Given the description of an element on the screen output the (x, y) to click on. 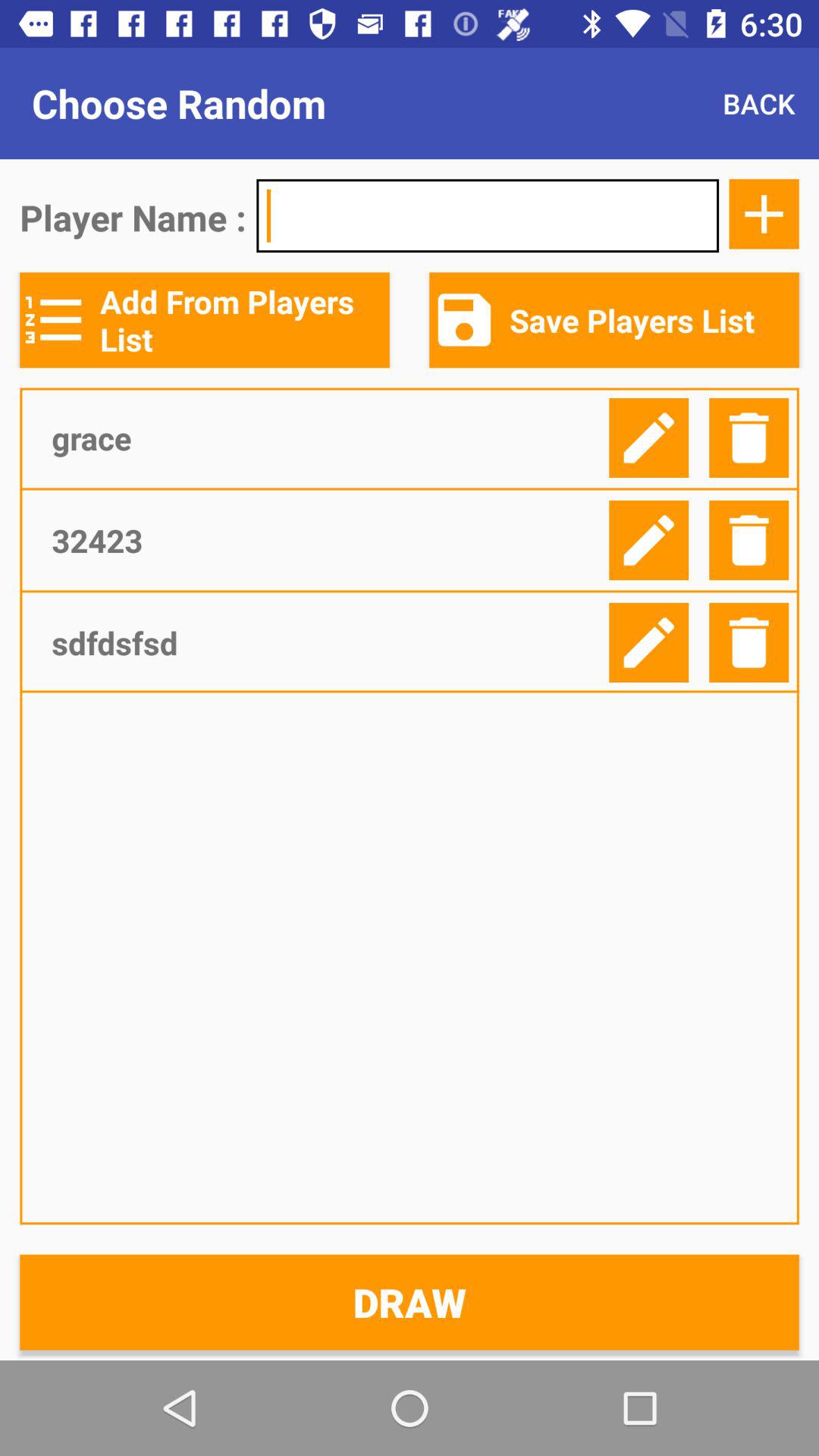
click 32423 icon (324, 539)
